Given the description of an element on the screen output the (x, y) to click on. 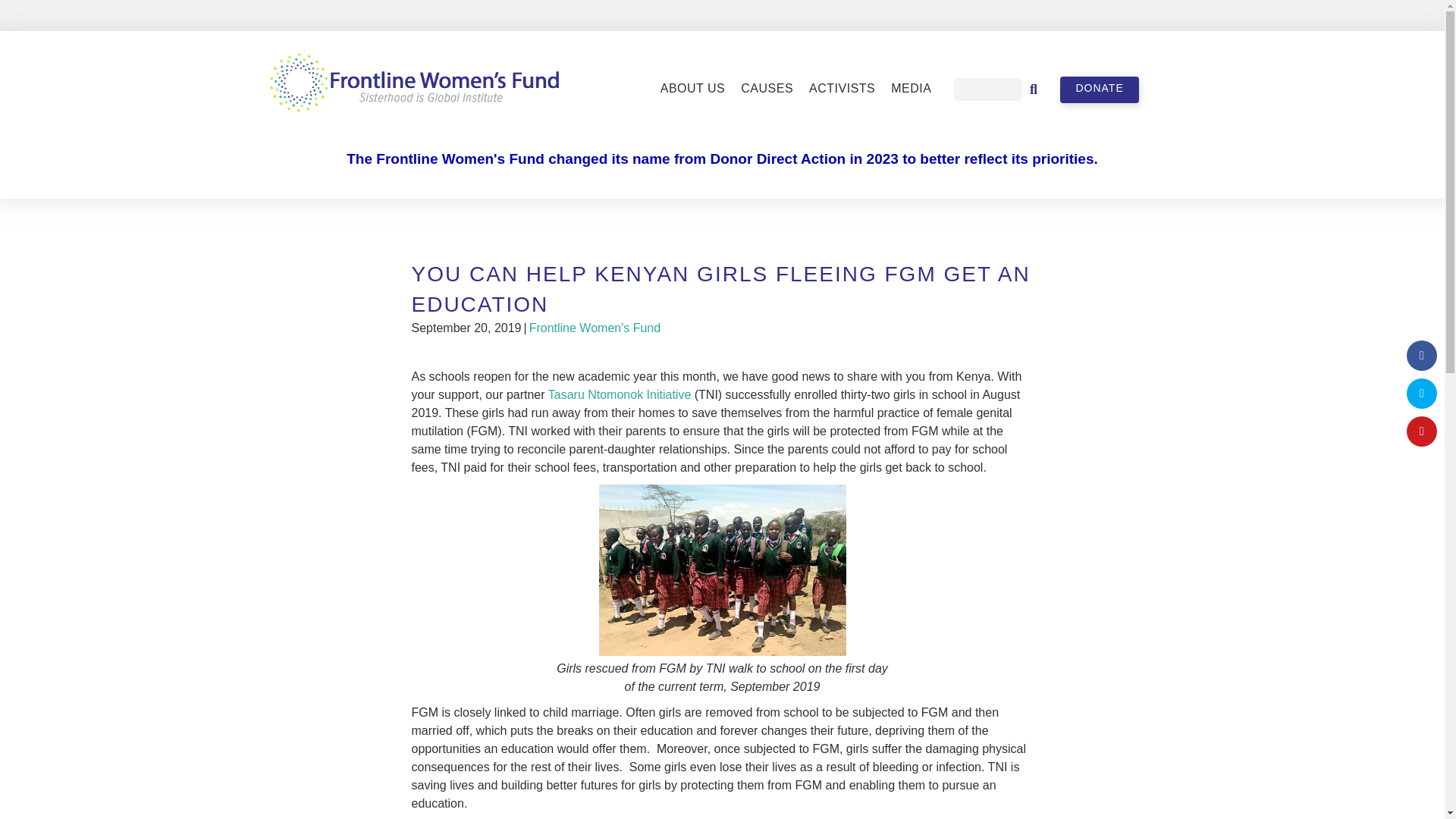
Frontline Women's Fund (595, 327)
FWF logo with SIGI copy - letterhead version (414, 85)
MEDIA (911, 89)
Tasaru Ntomonok Initiative (619, 394)
ABOUT US (692, 89)
DONATE (1098, 89)
CAUSES (766, 89)
ACTIVISTS (842, 89)
Search (987, 88)
